Given the description of an element on the screen output the (x, y) to click on. 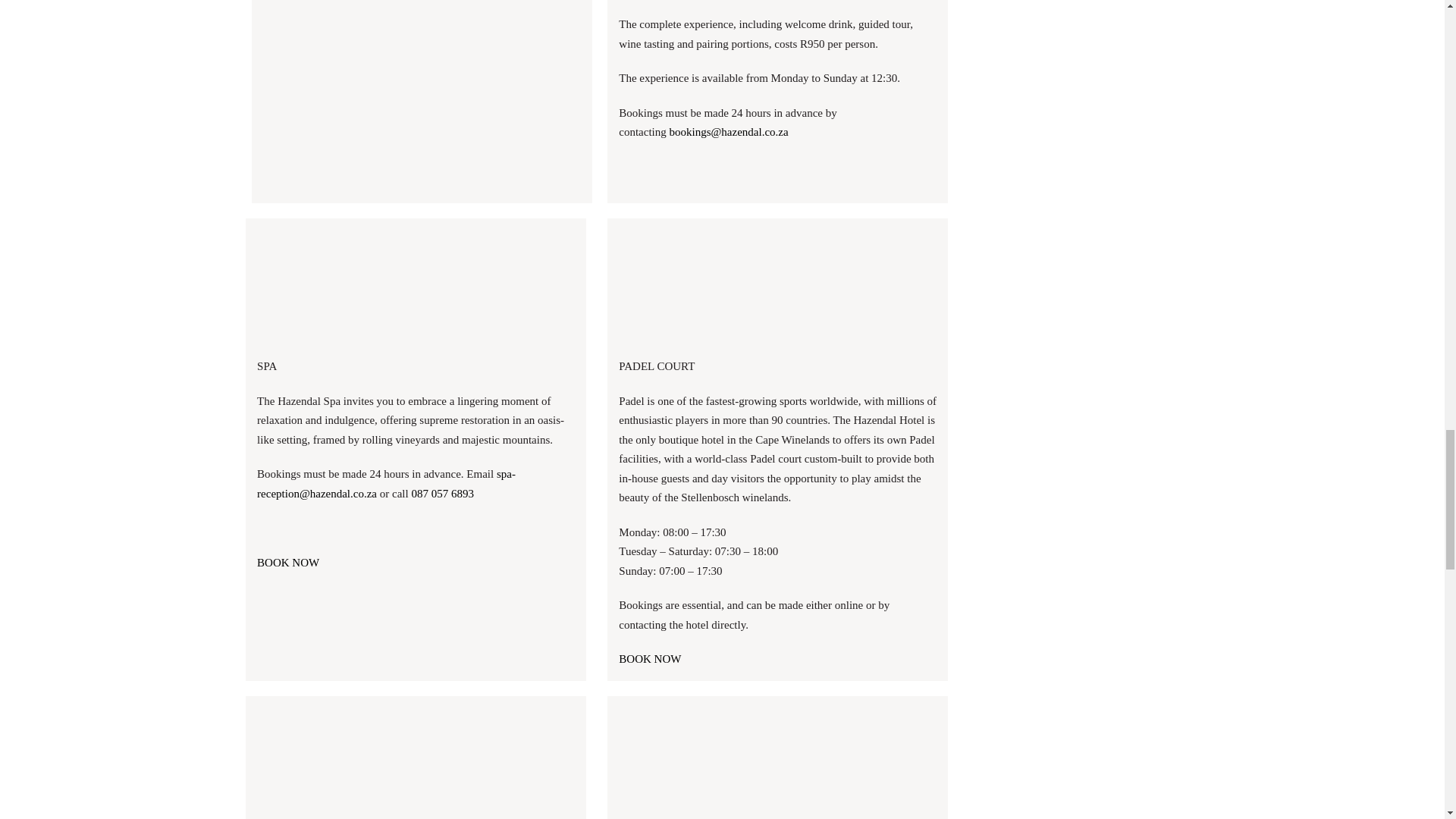
golf contact (416, 762)
haz-book-paddle (777, 286)
BOOK NOW (649, 658)
087 057 6893 (442, 492)
BOOK NOW (287, 562)
SPA-book-now (416, 286)
the burrow contact (777, 762)
